Given the description of an element on the screen output the (x, y) to click on. 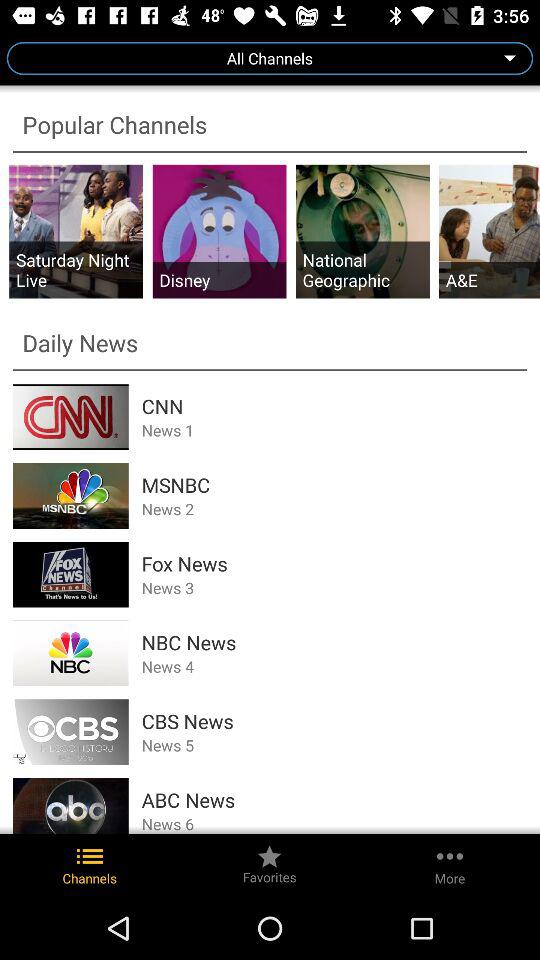
open the app above the news 3 item (333, 563)
